Given the description of an element on the screen output the (x, y) to click on. 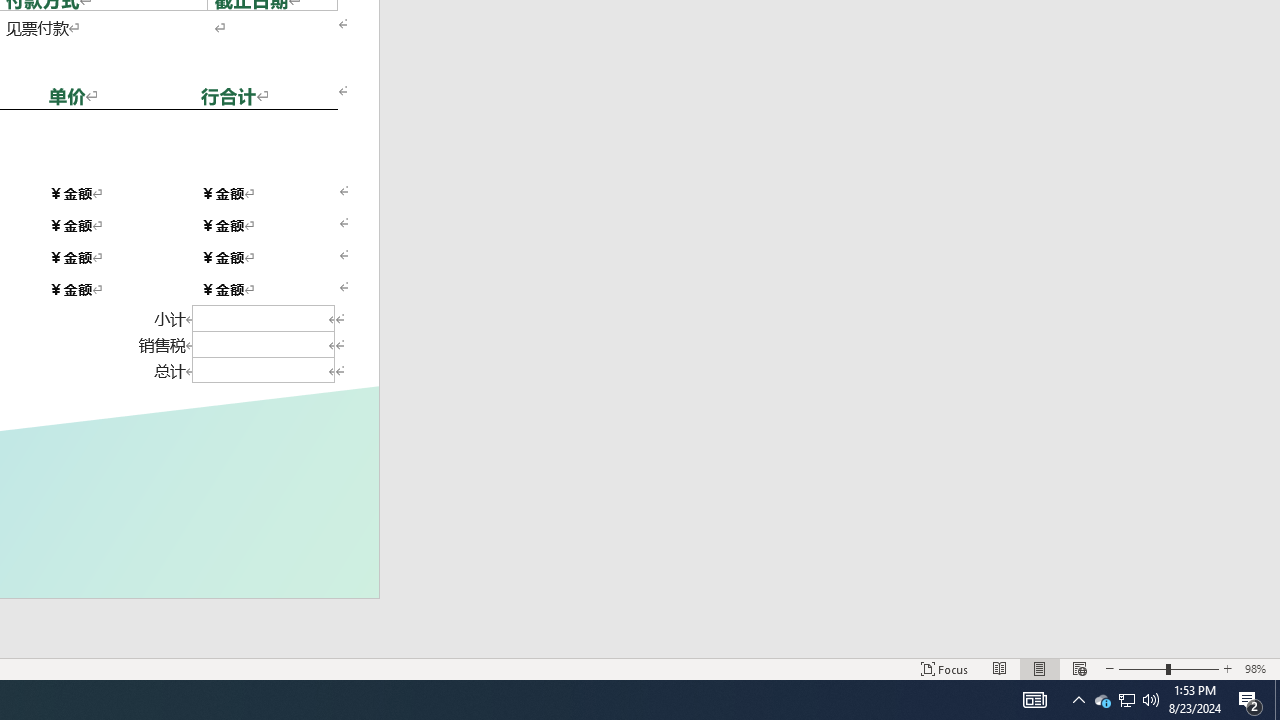
Zoom 98% (1258, 668)
